Given the description of an element on the screen output the (x, y) to click on. 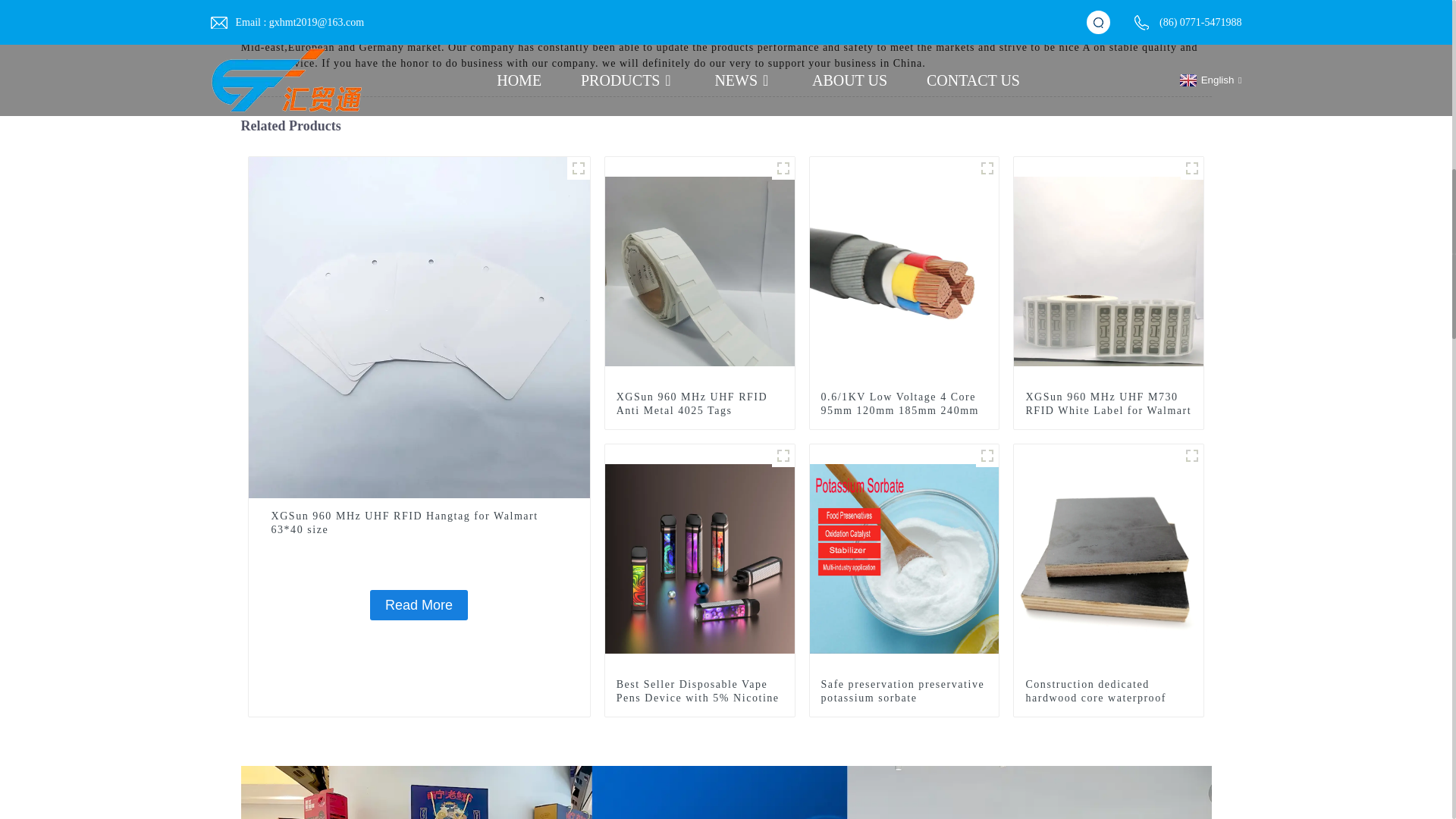
Merinova Pre Laminated Boards (382, 15)
XGSun 960 MHz UHF RFID Anti Metal 4025 Tags (699, 403)
Merinova Pre Laminated Boards (382, 15)
Collagen Skin Essential (1058, 2)
XGSun 960 MHz UHF RFID Anti Metal 4025 Tags (699, 403)
Powder Chopped Strand Mat (724, 10)
Rfid Security Stickers (522, 15)
Powder Chopped Strand Mat (724, 10)
Rfid Security Stickers (522, 15)
Collagen Skin Essential (1058, 2)
Read More (418, 604)
XGSun 960 MHz UHF RFID Anti Metal 4025 Tags (699, 270)
